Given the description of an element on the screen output the (x, y) to click on. 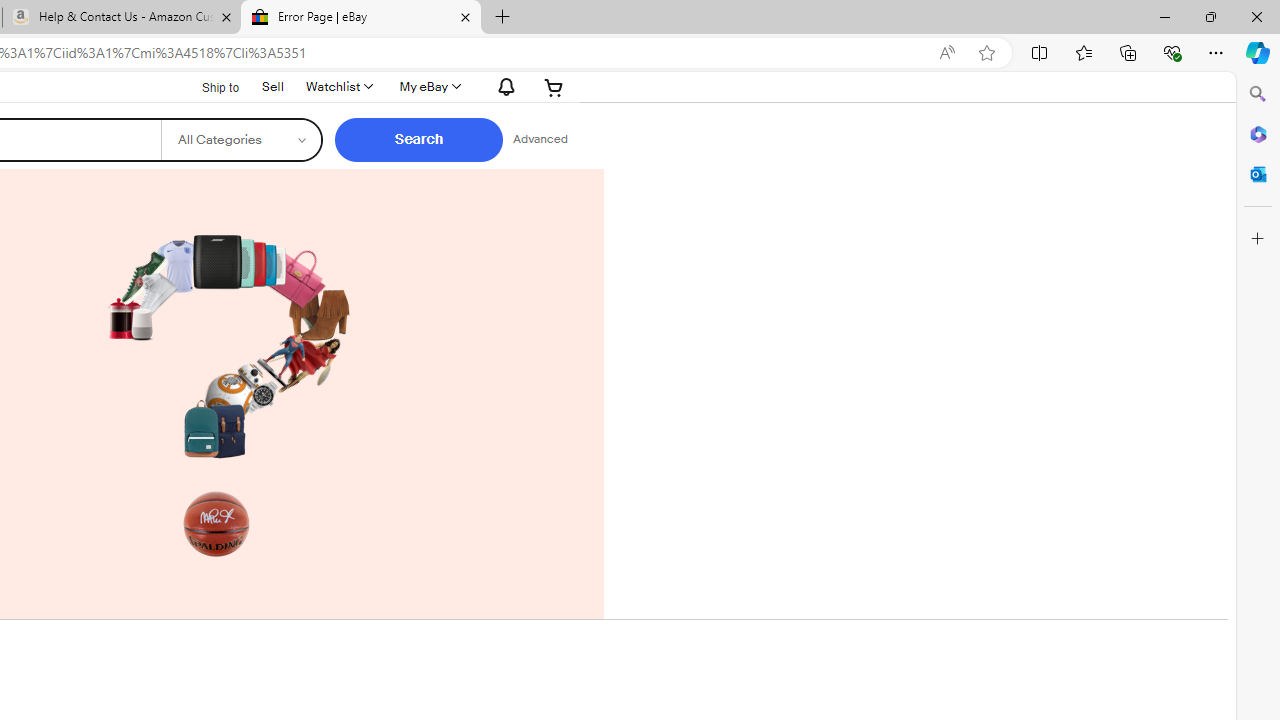
Select a category for search (240, 139)
My eBay (428, 86)
My eBayExpand My eBay (428, 86)
Ship to (207, 87)
AutomationID: gh-eb-Alerts (504, 86)
Watchlist (338, 86)
Sell (272, 84)
WatchlistExpand Watch List (338, 86)
